Given the description of an element on the screen output the (x, y) to click on. 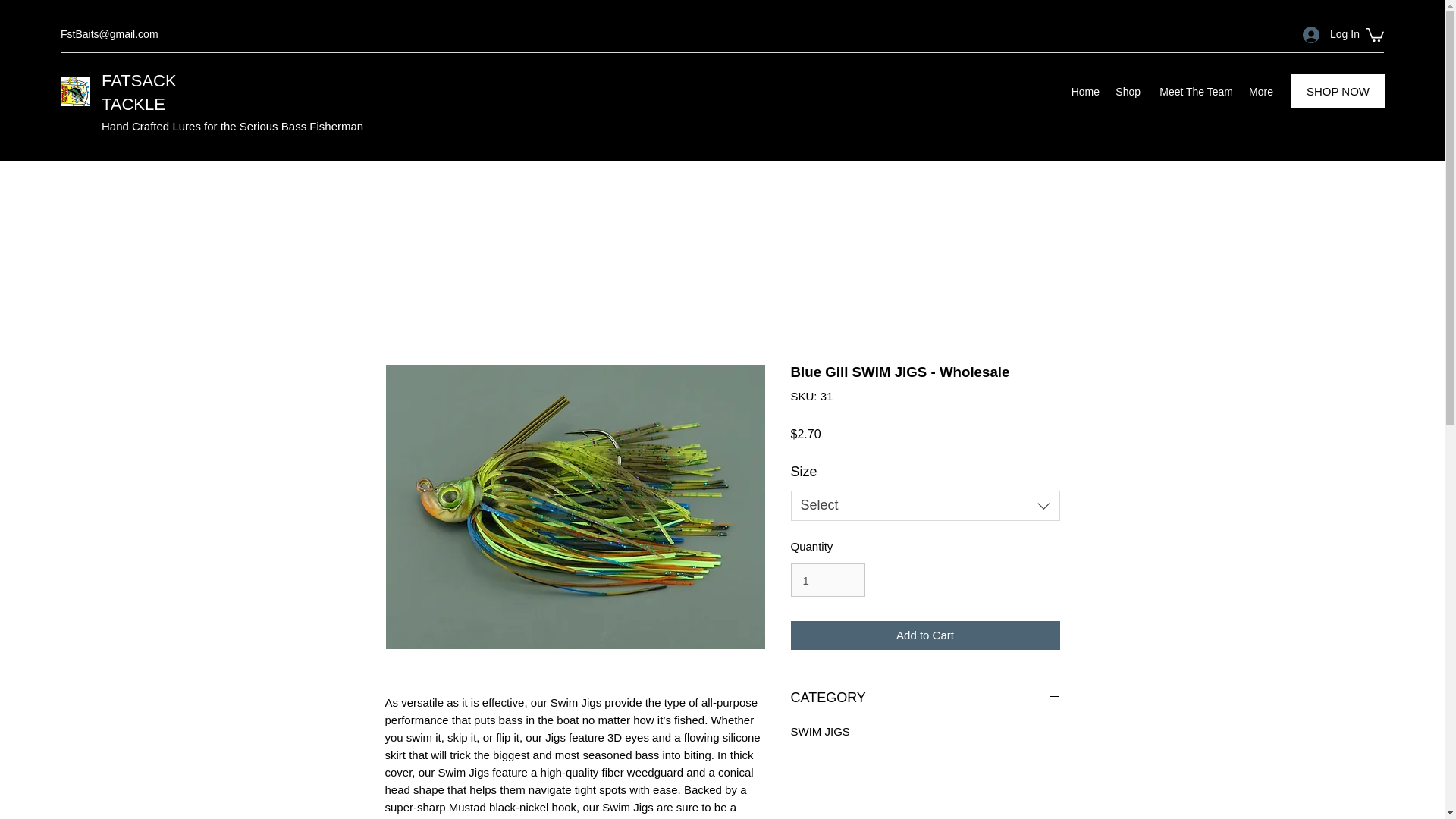
1 (827, 580)
Select (924, 505)
Home (1084, 91)
CATEGORY (924, 698)
Meet The Team (1194, 91)
Add to Cart (924, 635)
Log In (1325, 34)
SHOP NOW (1337, 91)
FATSACK TACKLE (138, 92)
Shop (1127, 91)
